Given the description of an element on the screen output the (x, y) to click on. 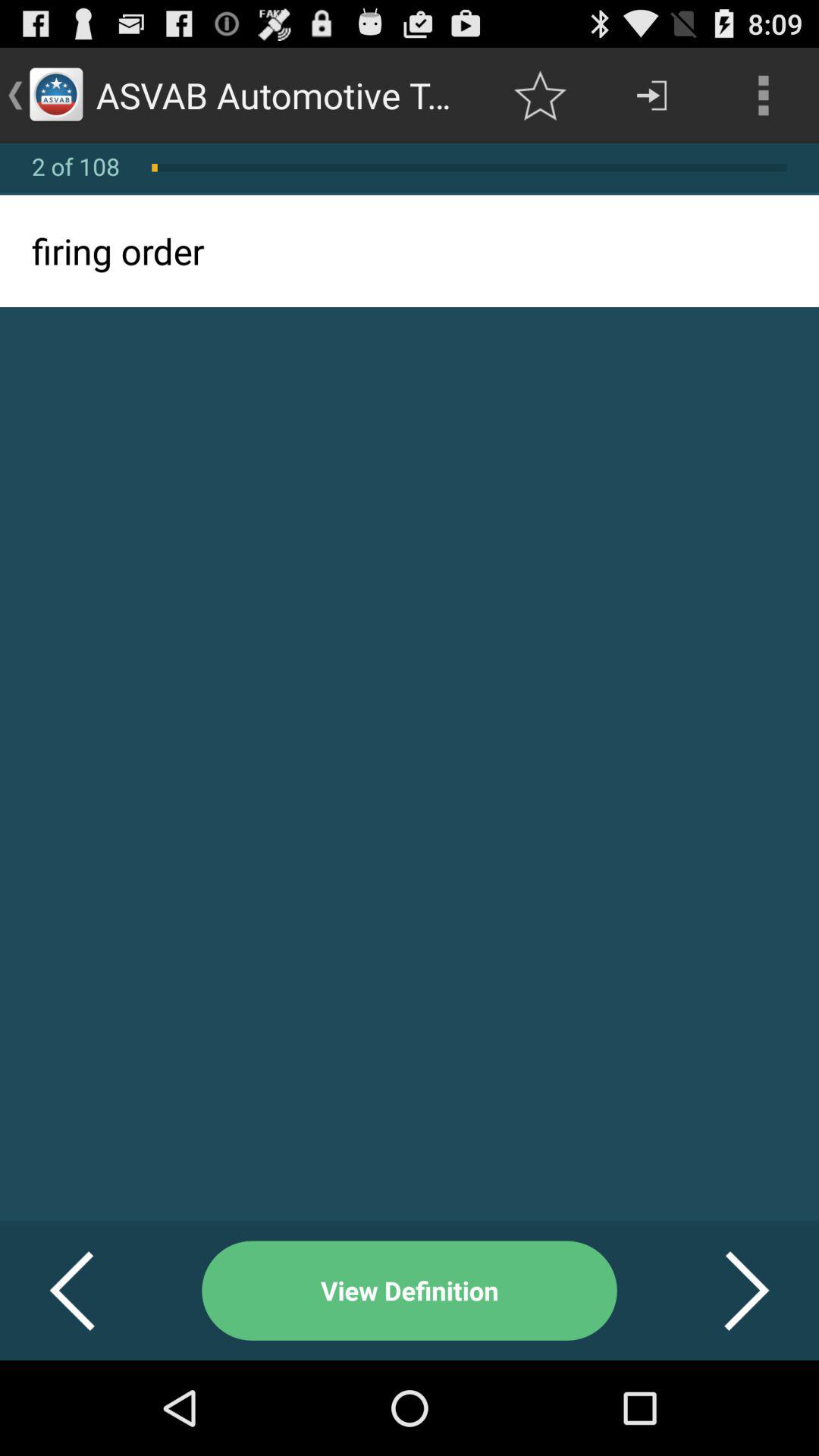
press the button to the left of view definition item (91, 1290)
